Given the description of an element on the screen output the (x, y) to click on. 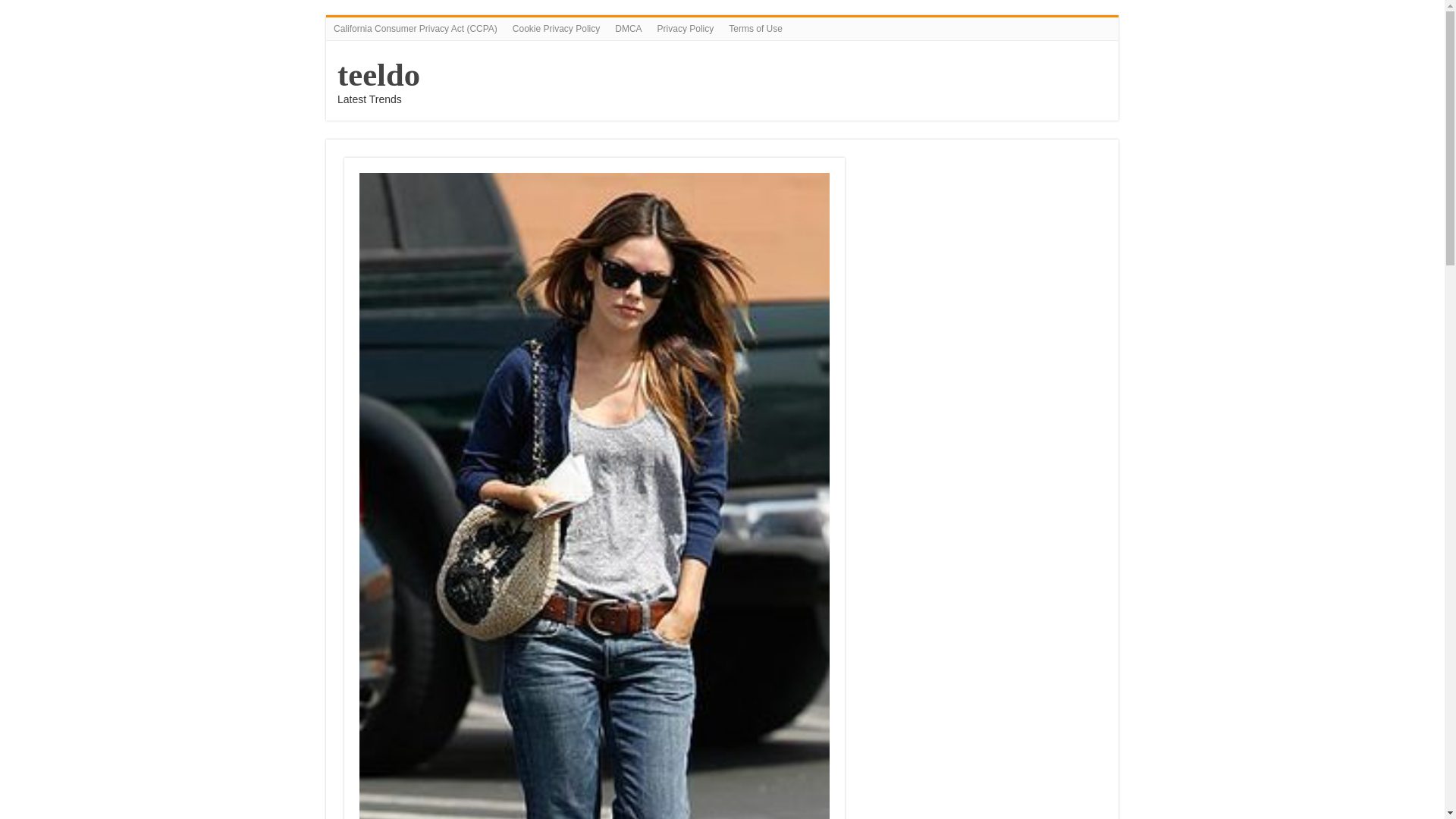
Terms of Use (755, 28)
Privacy Policy (685, 28)
Cookie Privacy Policy (556, 28)
teeldo (378, 74)
DMCA (628, 28)
